Given the description of an element on the screen output the (x, y) to click on. 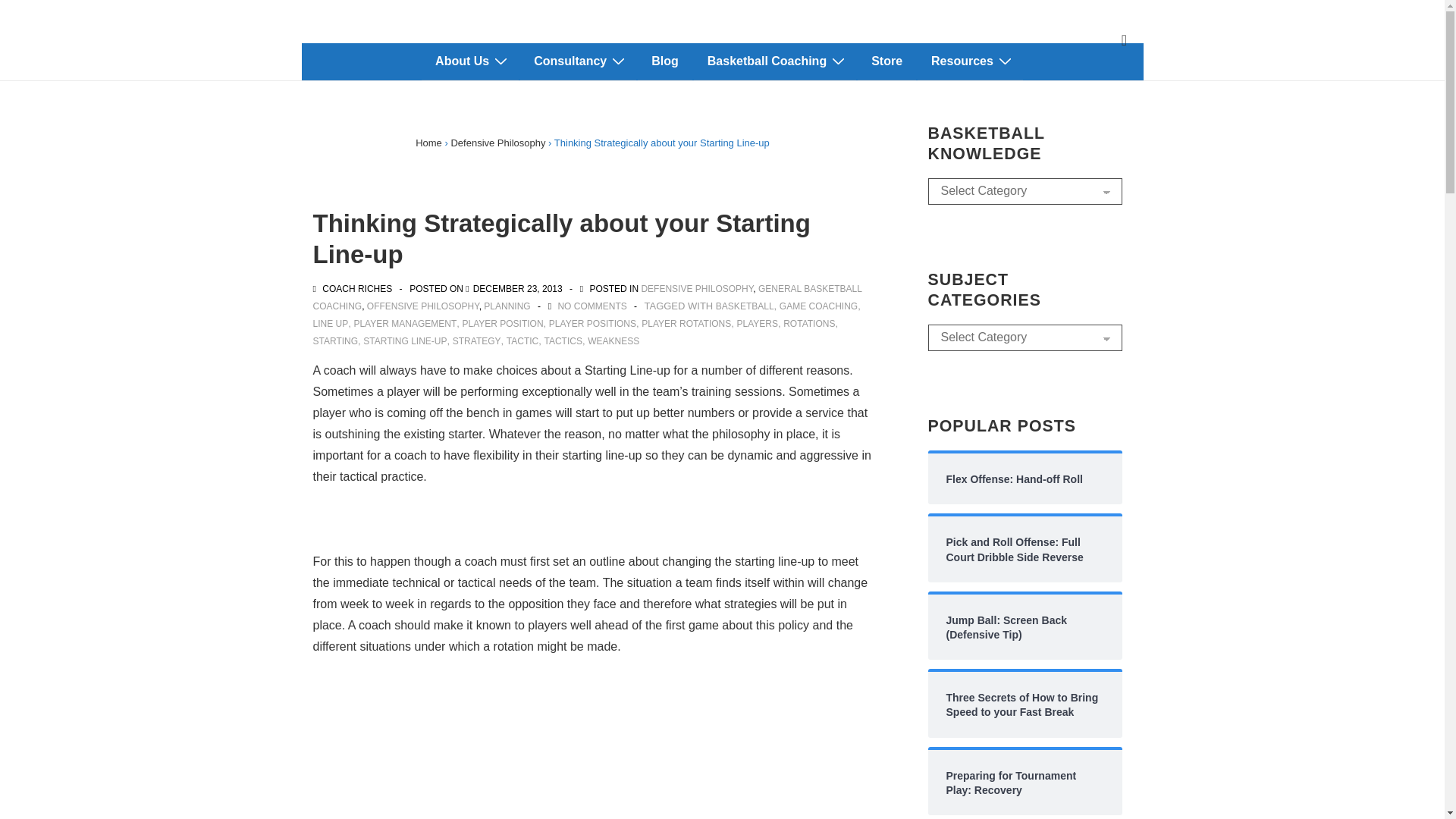
Store (886, 61)
About Us (470, 61)
Consultancy (577, 61)
Defensive Philosophy (496, 142)
Home (428, 142)
Basketball Coaching (775, 61)
Advertisement (592, 770)
Thinking Strategically about your Starting Line-up (517, 288)
MENU (1123, 40)
Blog (665, 61)
Resources (970, 61)
COACH RICHES (353, 288)
View all posts by Coach Riches (353, 288)
